Given the description of an element on the screen output the (x, y) to click on. 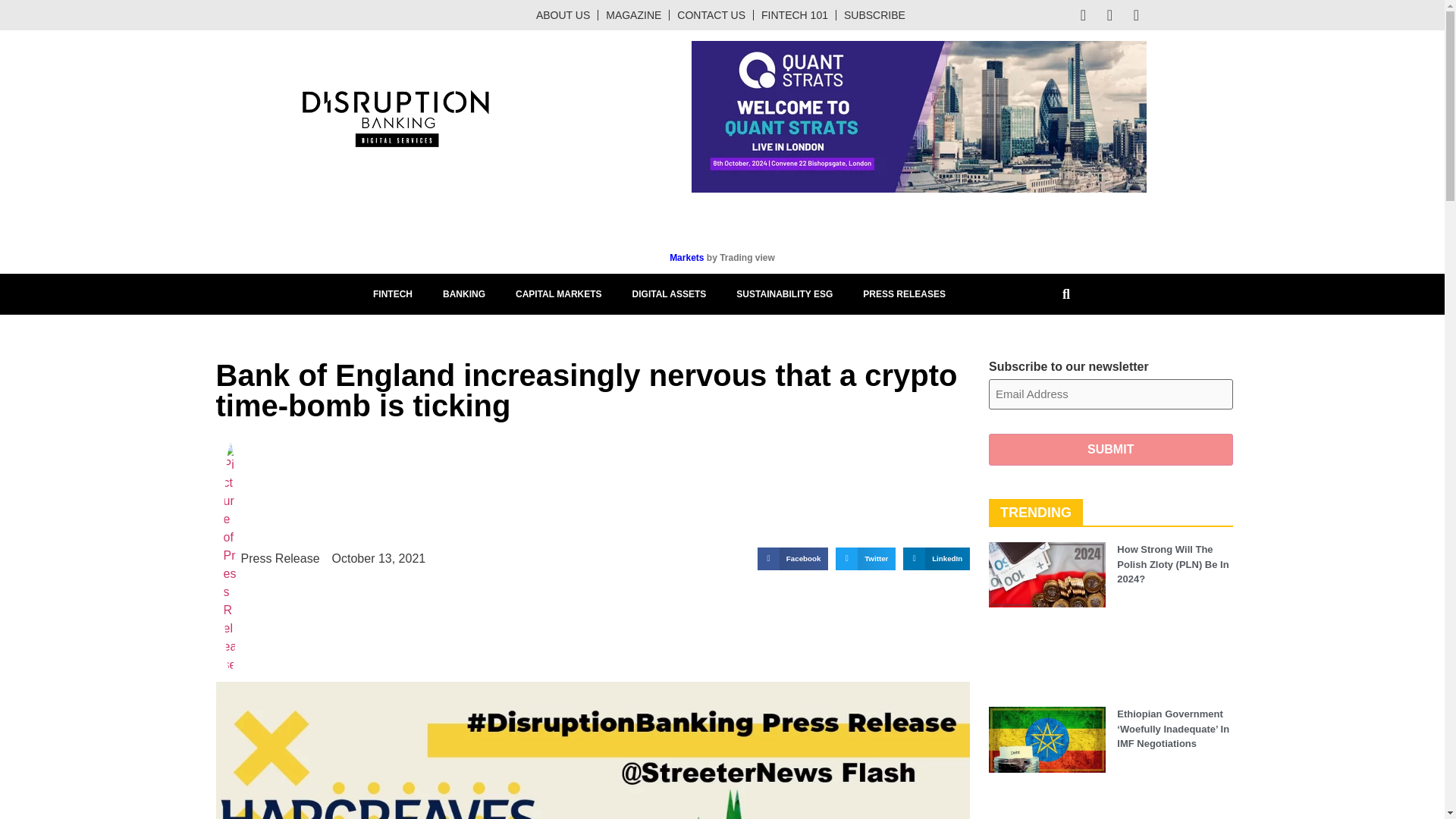
ABOUT US (563, 14)
DIGITAL ASSETS (669, 293)
Markets (687, 257)
Submit (1110, 450)
SUBSCRIBE (873, 14)
BANKING (464, 293)
SUSTAINABILITY ESG (783, 293)
FINTECH 101 (794, 14)
MAGAZINE (633, 14)
PRESS RELEASES (903, 293)
FINTECH (393, 293)
CAPITAL MARKETS (558, 293)
CONTACT US (711, 14)
